Given the description of an element on the screen output the (x, y) to click on. 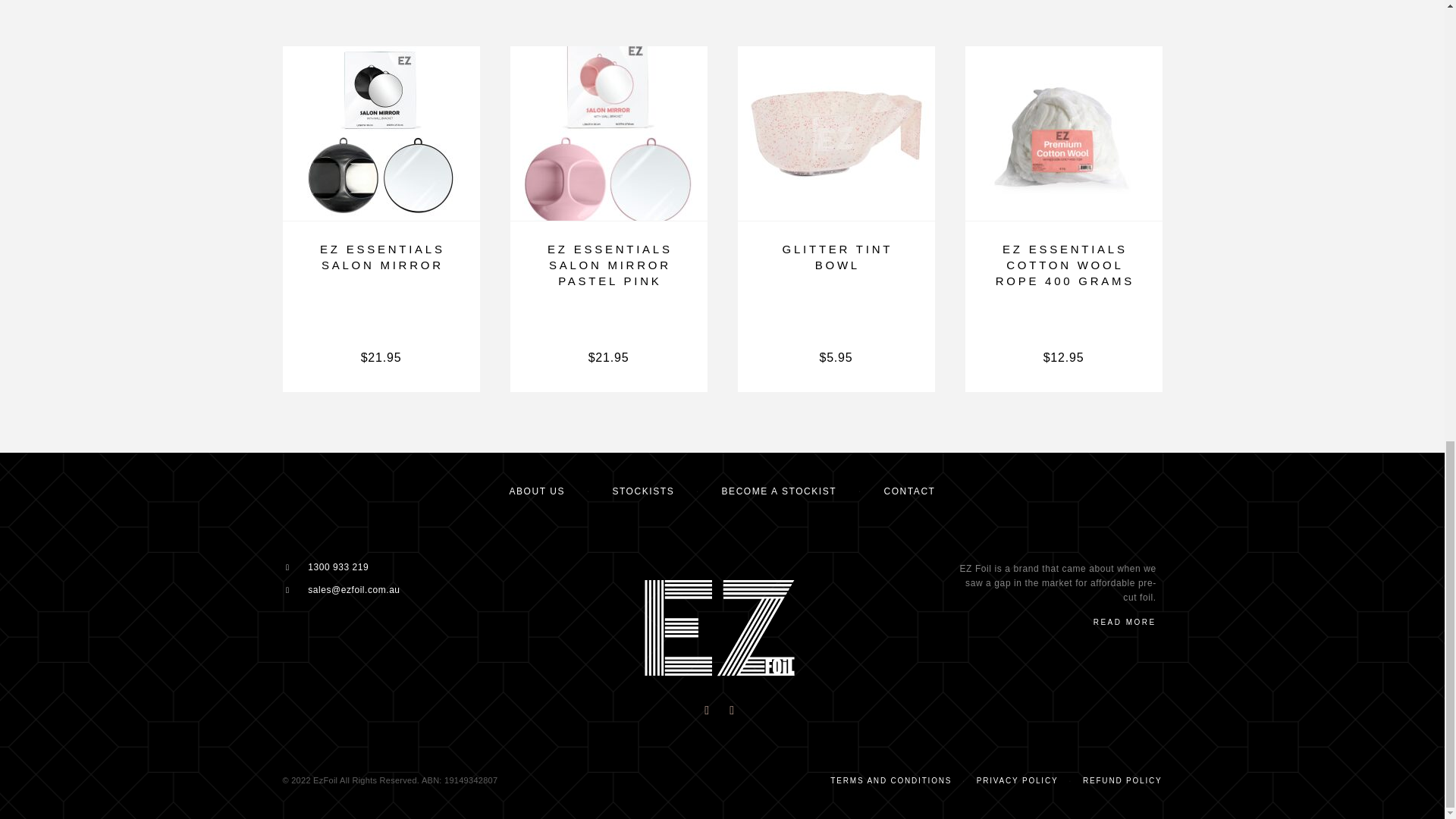
logo-white (718, 628)
